Given the description of an element on the screen output the (x, y) to click on. 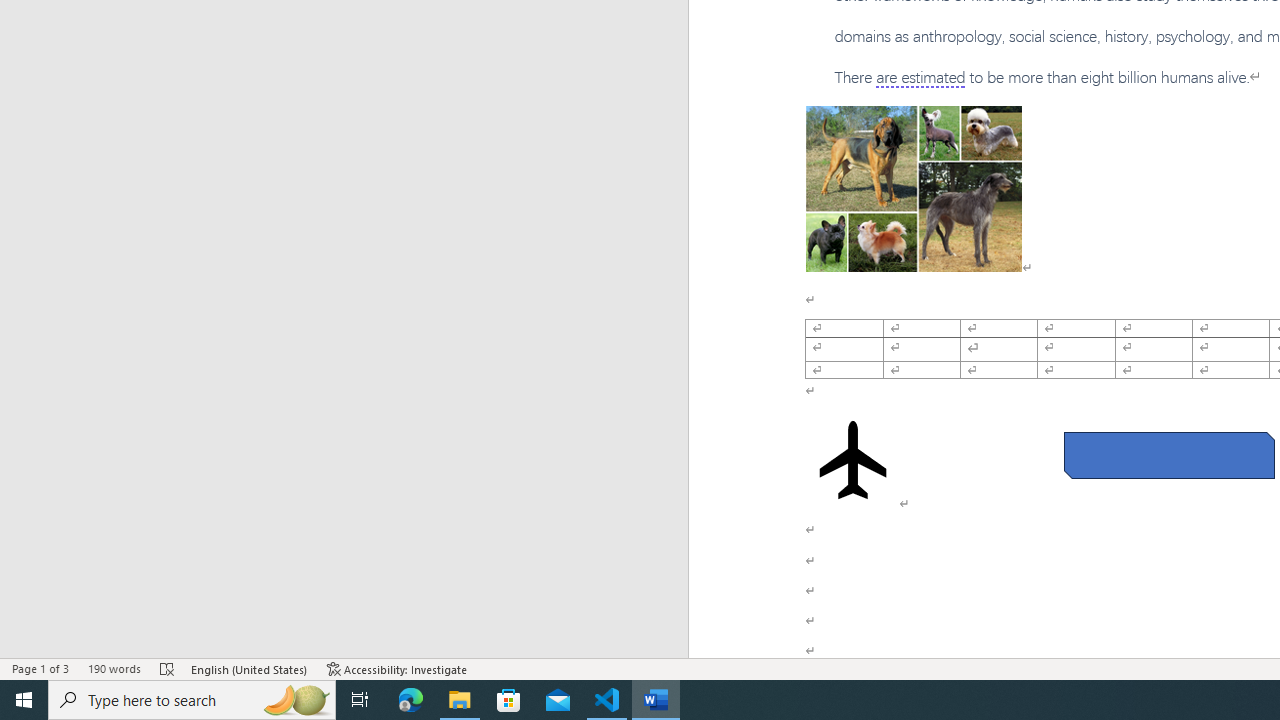
Page Number Page 1 of 3 (39, 668)
Rectangle: Diagonal Corners Snipped 2 (1168, 455)
Morphological variation in six dogs (913, 188)
Airplane with solid fill (852, 459)
